Given the description of an element on the screen output the (x, y) to click on. 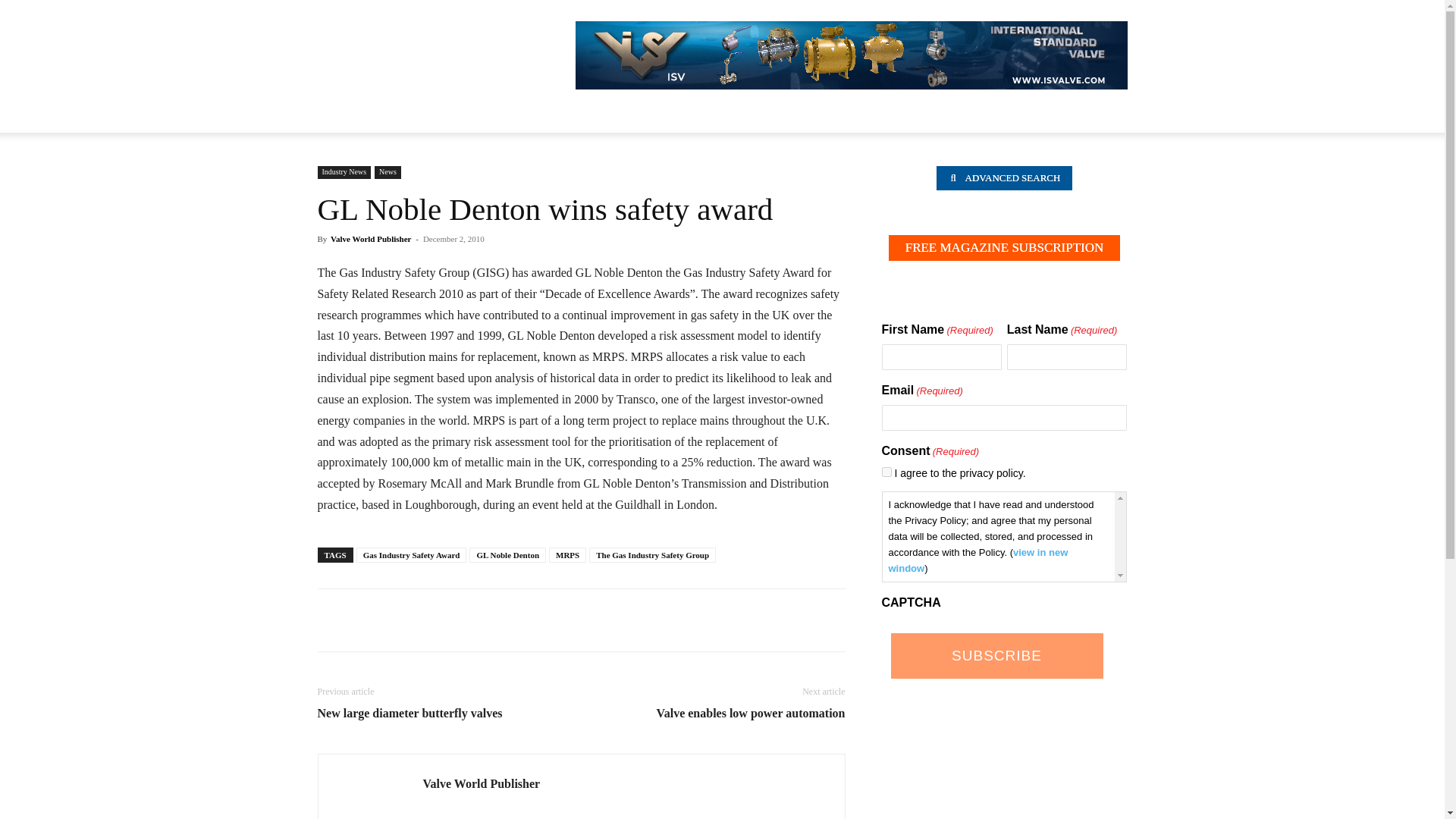
SUBSCRIBE (995, 655)
1 (885, 471)
